Given the description of an element on the screen output the (x, y) to click on. 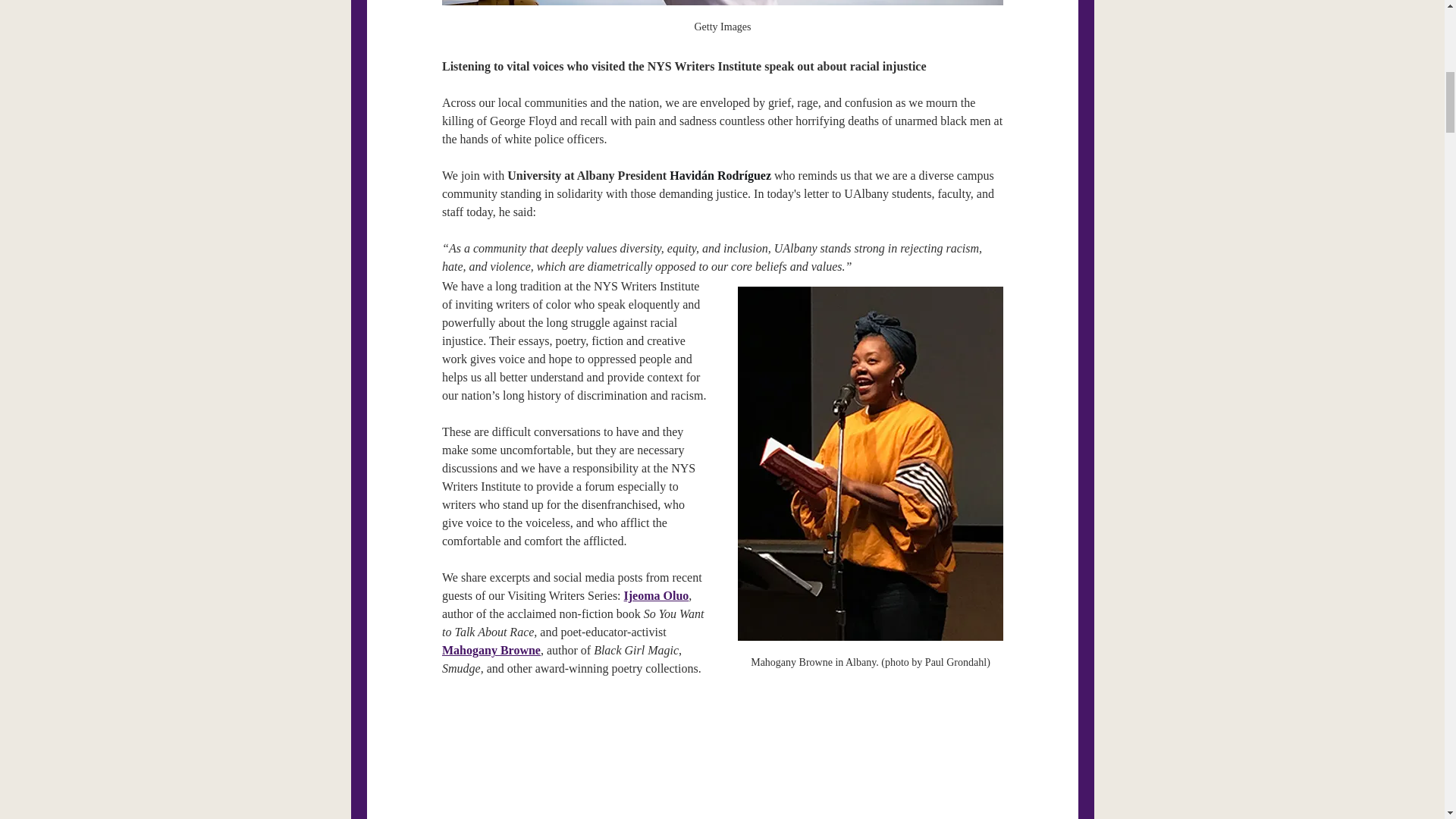
Ijeoma Oluo (655, 594)
Mahogany Browne (490, 649)
